Given the description of an element on the screen output the (x, y) to click on. 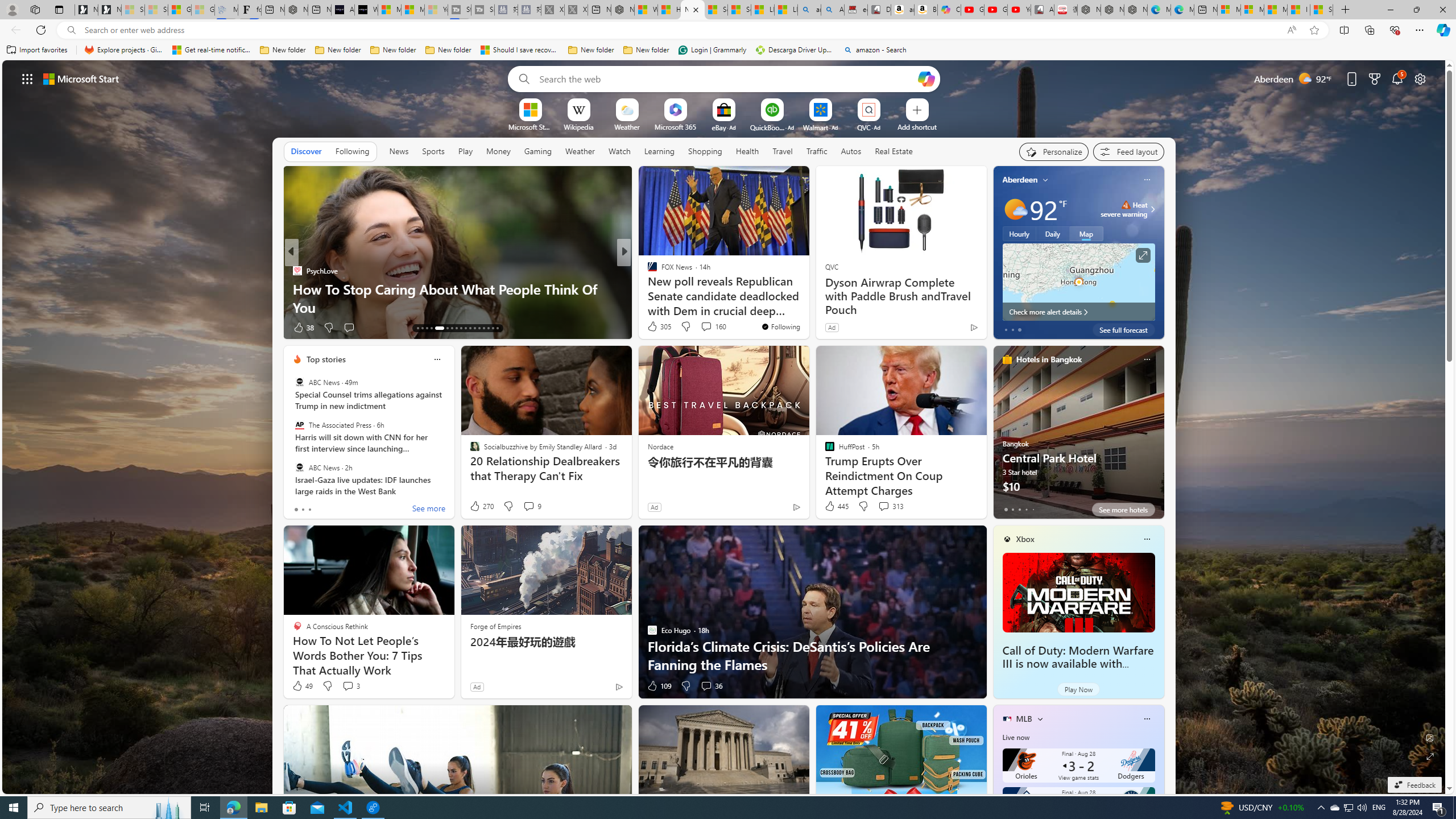
Map (1085, 233)
Eat This, Not That! (647, 288)
I Gained 20 Pounds of Muscle in 30 Days! | Watch (1298, 9)
Expand background (1430, 756)
AutomationID: tab-19 (451, 328)
Like (648, 327)
Lemon Impossible Pie - The Easiest Pie You'll Ever Make! (807, 298)
